Given the description of an element on the screen output the (x, y) to click on. 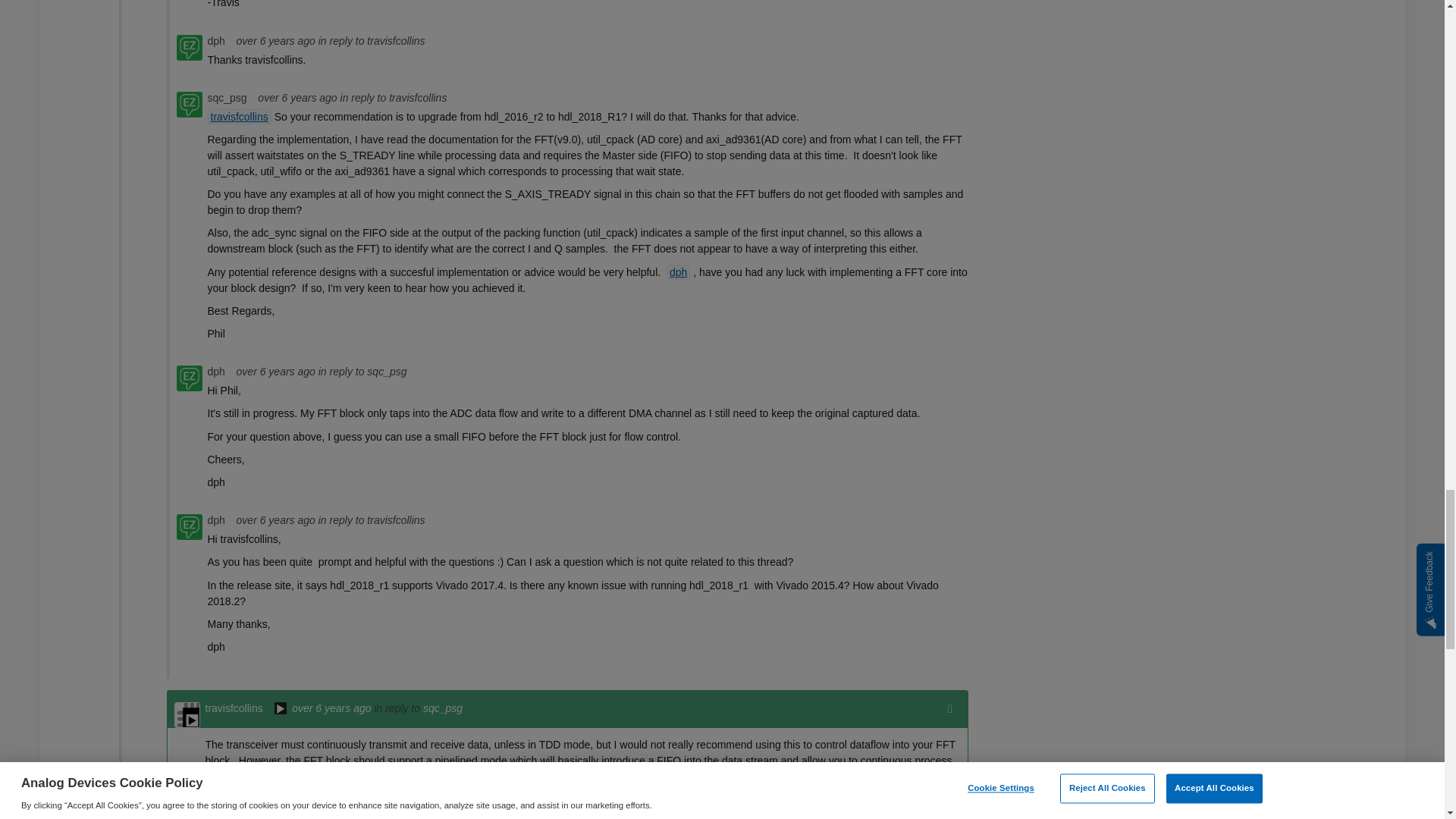
Analog Employees (279, 709)
